Given the description of an element on the screen output the (x, y) to click on. 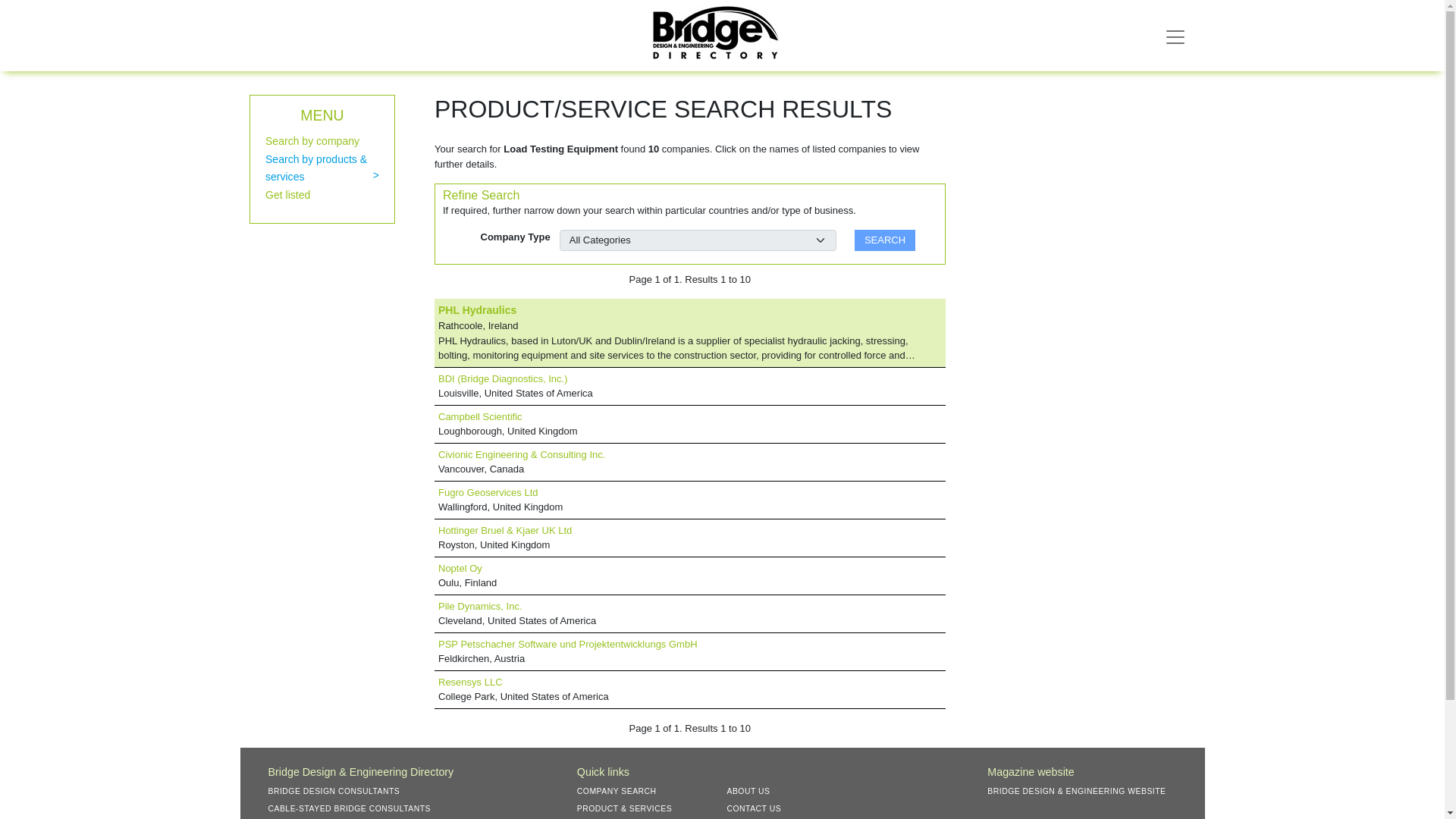
PSP Petschacher Software und Projektentwicklungs GmbH (567, 644)
Pile Dynamics, Inc. (480, 605)
Campbell Scientific (480, 416)
Resensys LLC (470, 681)
Fugro Geoservices Ltd (488, 491)
PHL Hydraulics (477, 309)
ABOUT US (753, 791)
PHL Hydraulics (477, 309)
BRIDGE DESIGN CONSULTANTS (338, 791)
SEARCH (884, 240)
COMPANY SEARCH (621, 791)
Pile Dynamics, Inc. (480, 605)
Search by company (311, 141)
CABLE-STAYED BRIDGE CONSULTANTS (354, 808)
Get listed (287, 194)
